Given the description of an element on the screen output the (x, y) to click on. 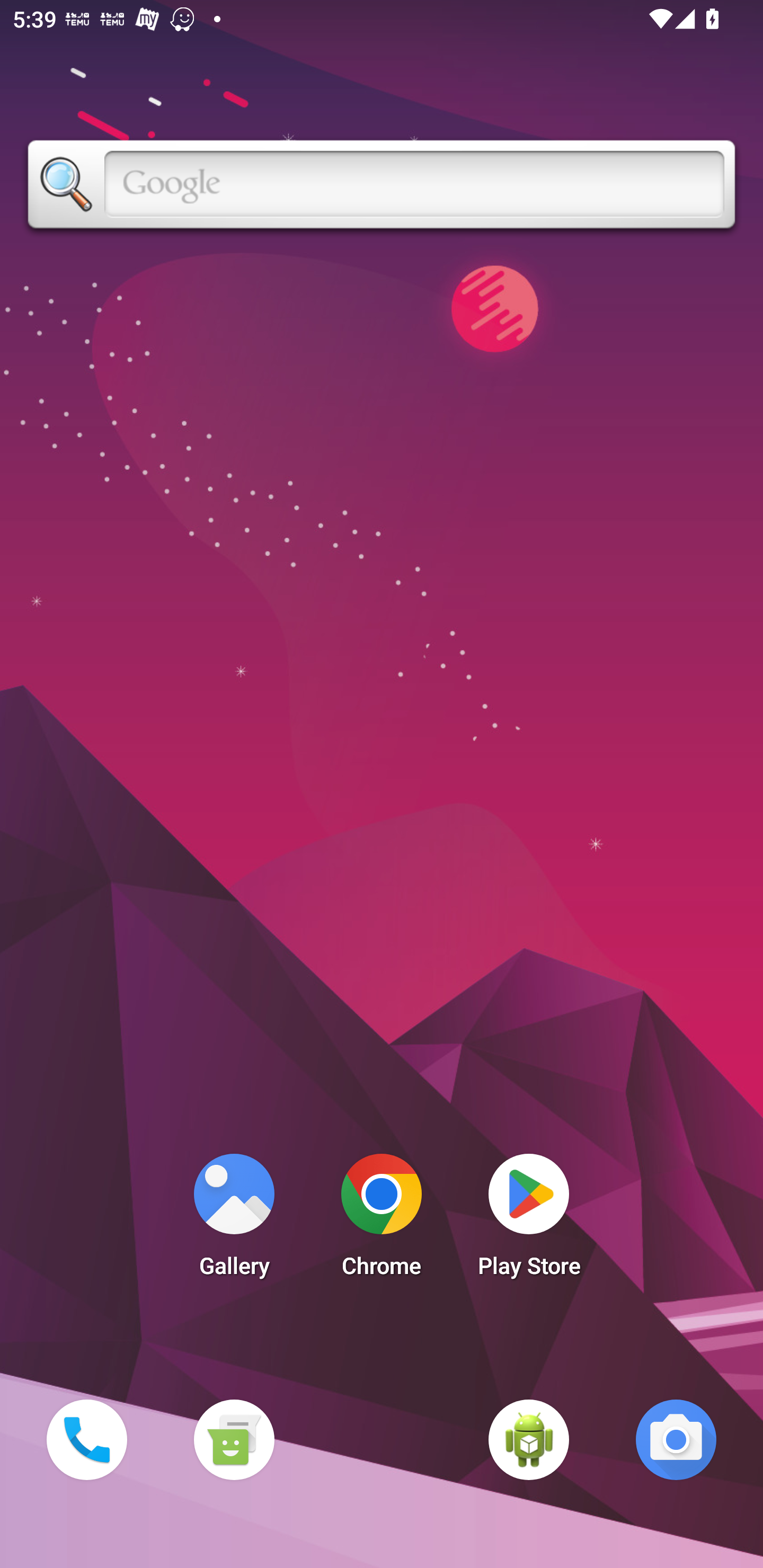
Gallery (233, 1220)
Chrome (381, 1220)
Play Store (528, 1220)
Phone (86, 1439)
Messaging (233, 1439)
WebView Browser Tester (528, 1439)
Camera (676, 1439)
